Given the description of an element on the screen output the (x, y) to click on. 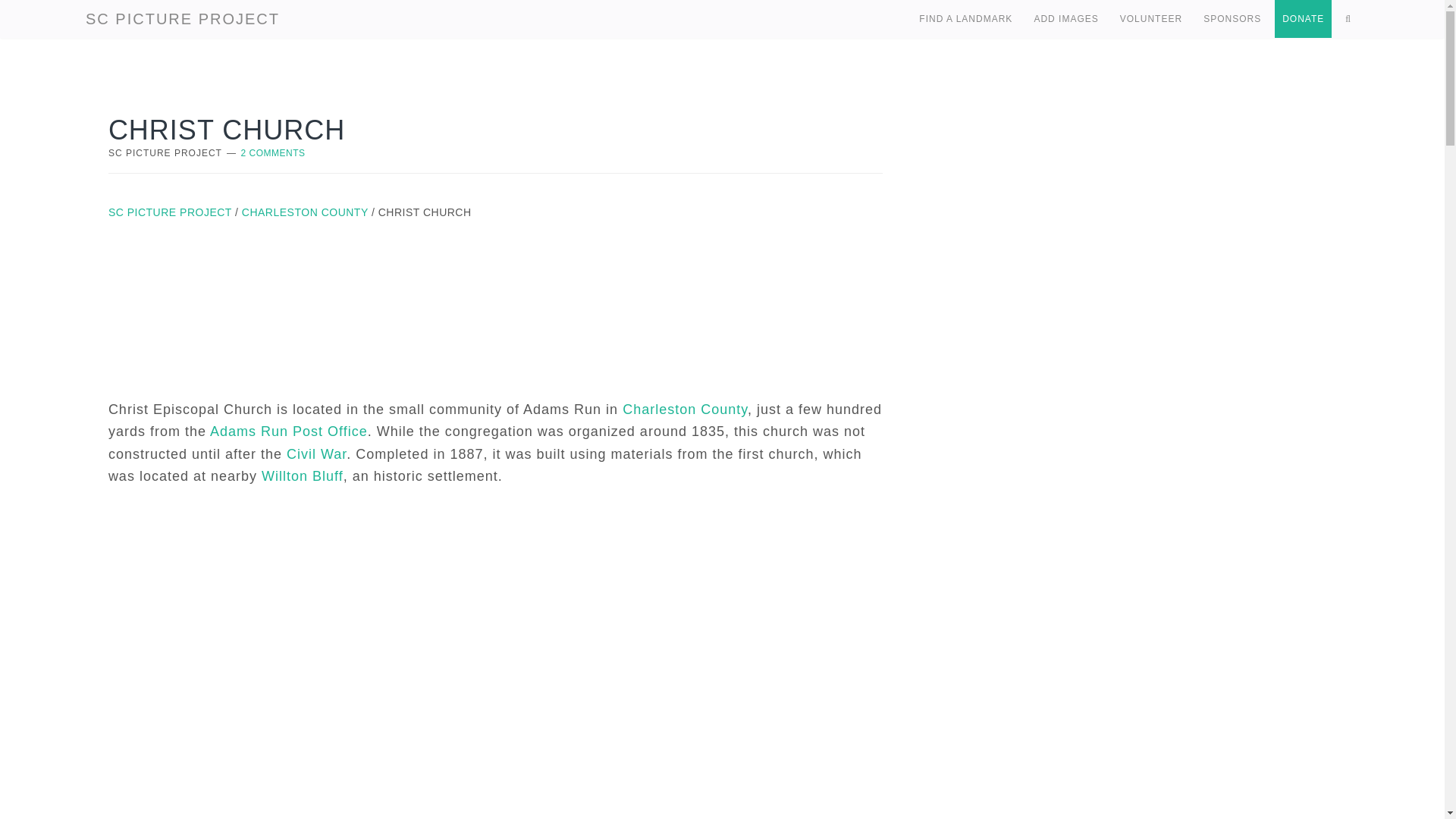
Civil War (316, 453)
Willton Bluff (302, 476)
Charleston County (685, 409)
SPONSORS (1231, 18)
ADD IMAGES (1065, 18)
FIND A LANDMARK (965, 18)
Adams Run Post Office (288, 431)
DONATE (1303, 18)
